Given the description of an element on the screen output the (x, y) to click on. 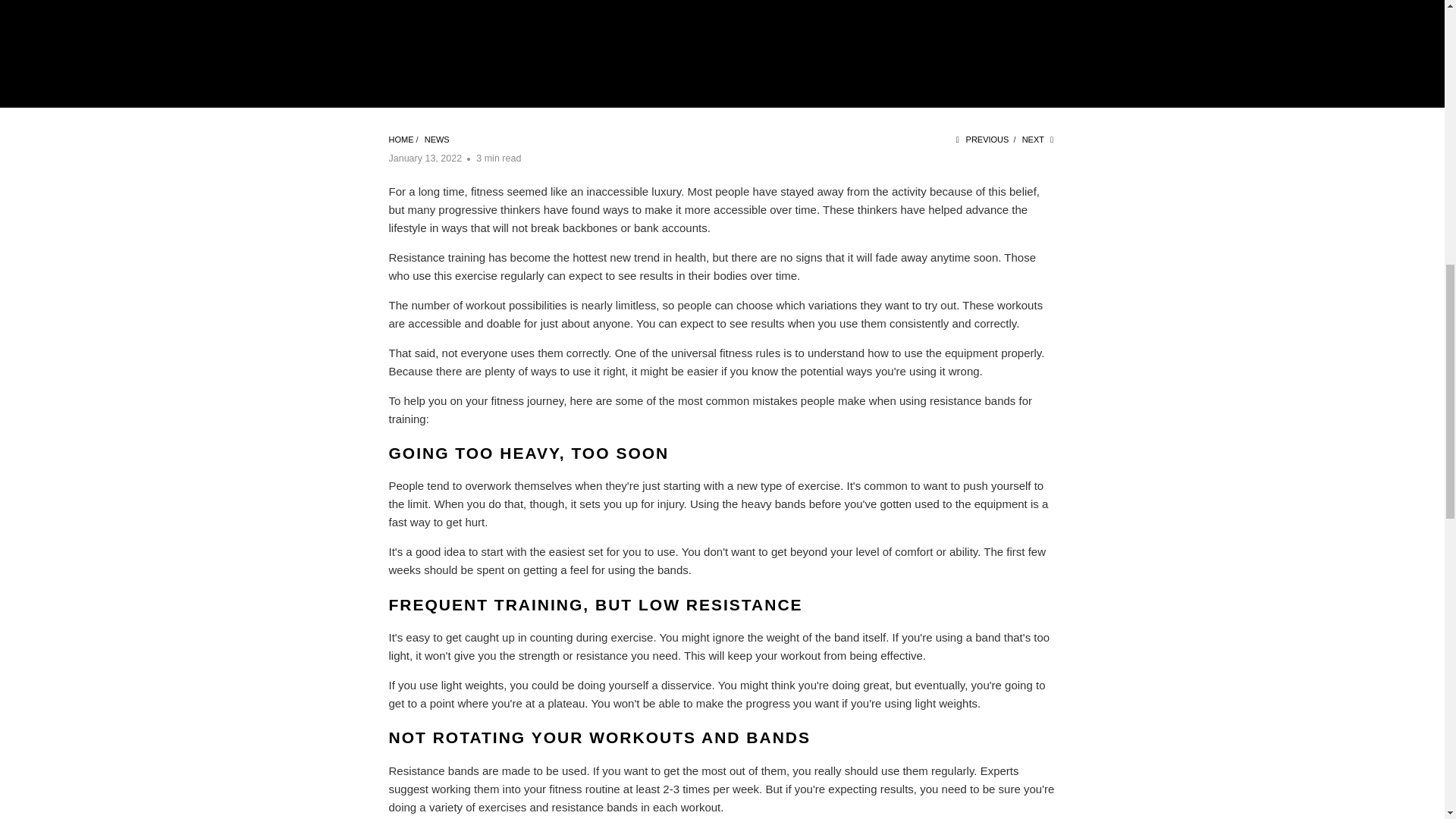
News (437, 139)
